Given the description of an element on the screen output the (x, y) to click on. 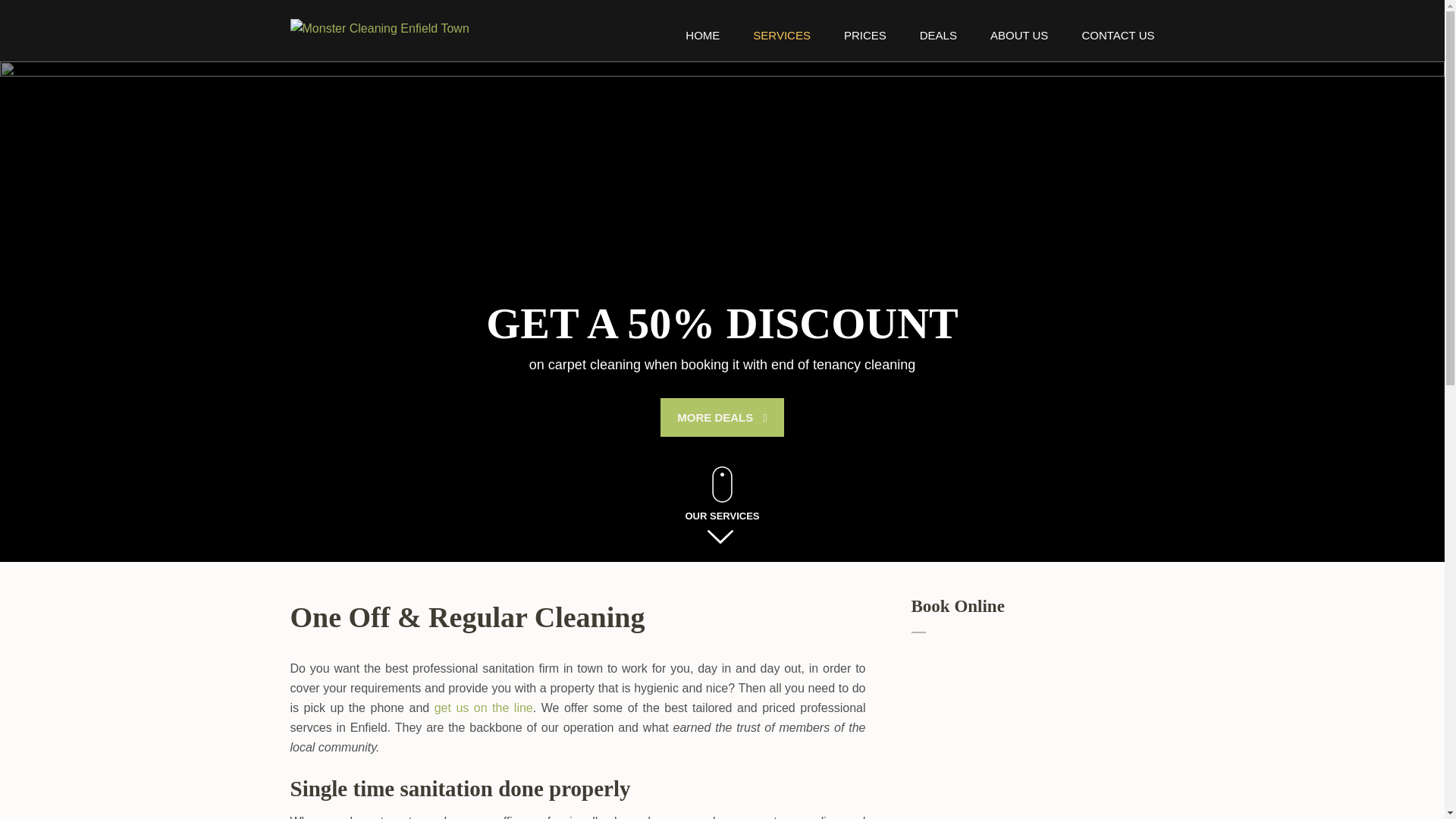
MONSTER CLEANING ENFIELD TOWN (488, 49)
ABOUT US (1019, 44)
get us on the line (482, 707)
HOME (702, 44)
CONTACT US (1117, 44)
MORE DEALS (722, 417)
DEALS (938, 44)
PRICES (865, 44)
SERVICES (781, 44)
